Given the description of an element on the screen output the (x, y) to click on. 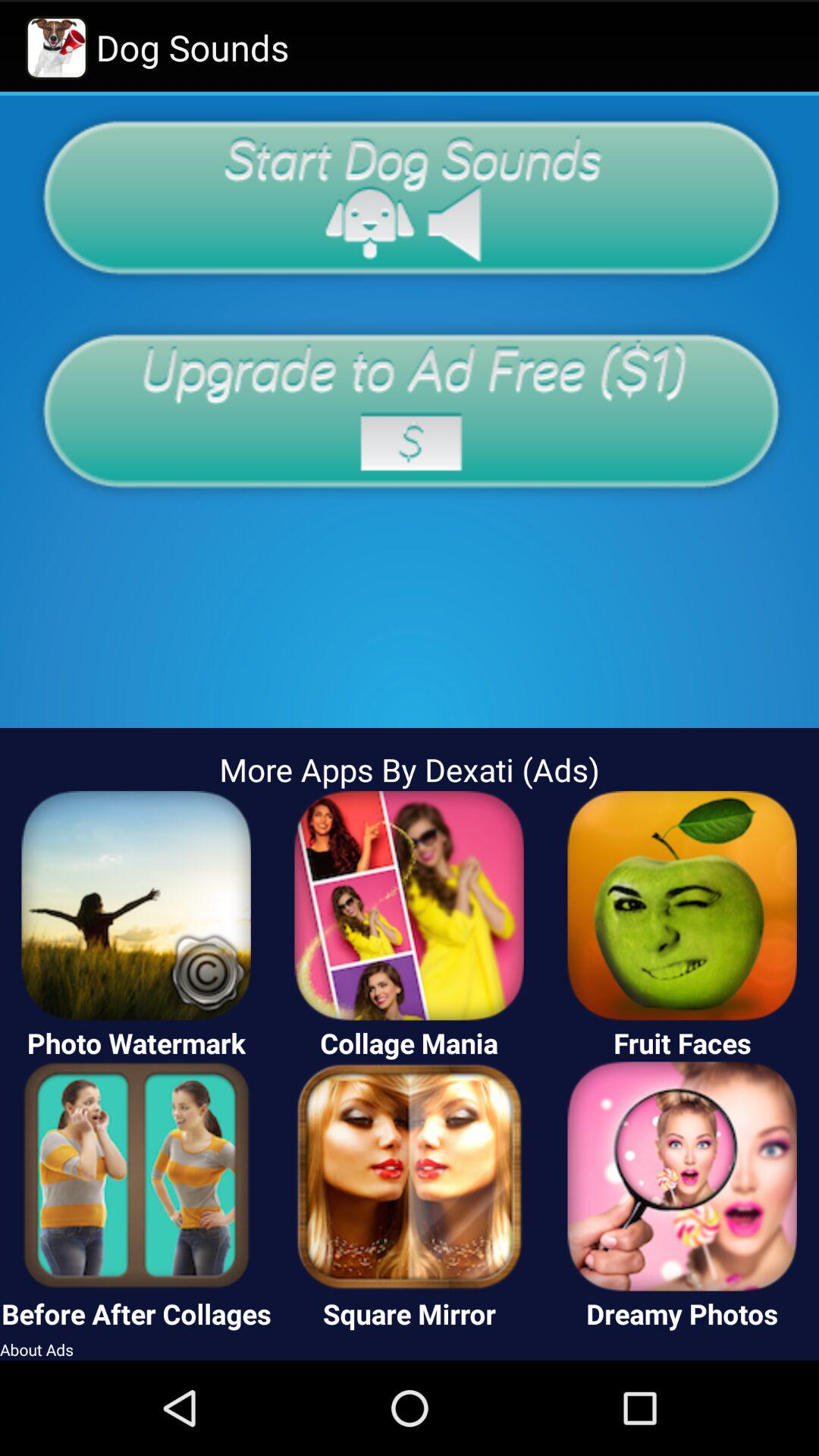
upgrade app (409, 409)
